Given the description of an element on the screen output the (x, y) to click on. 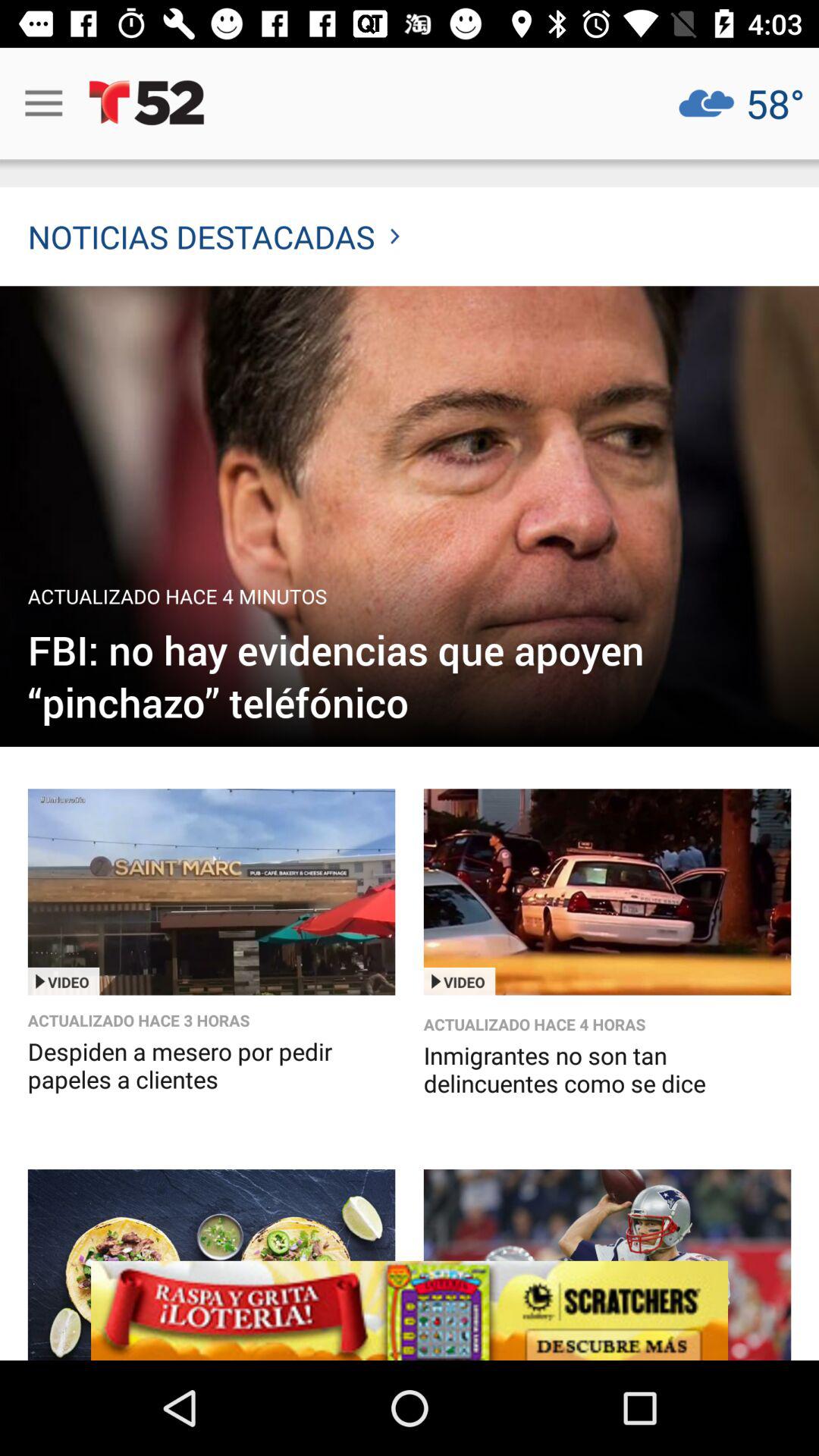
it is a picture of savory food (211, 1264)
